Given the description of an element on the screen output the (x, y) to click on. 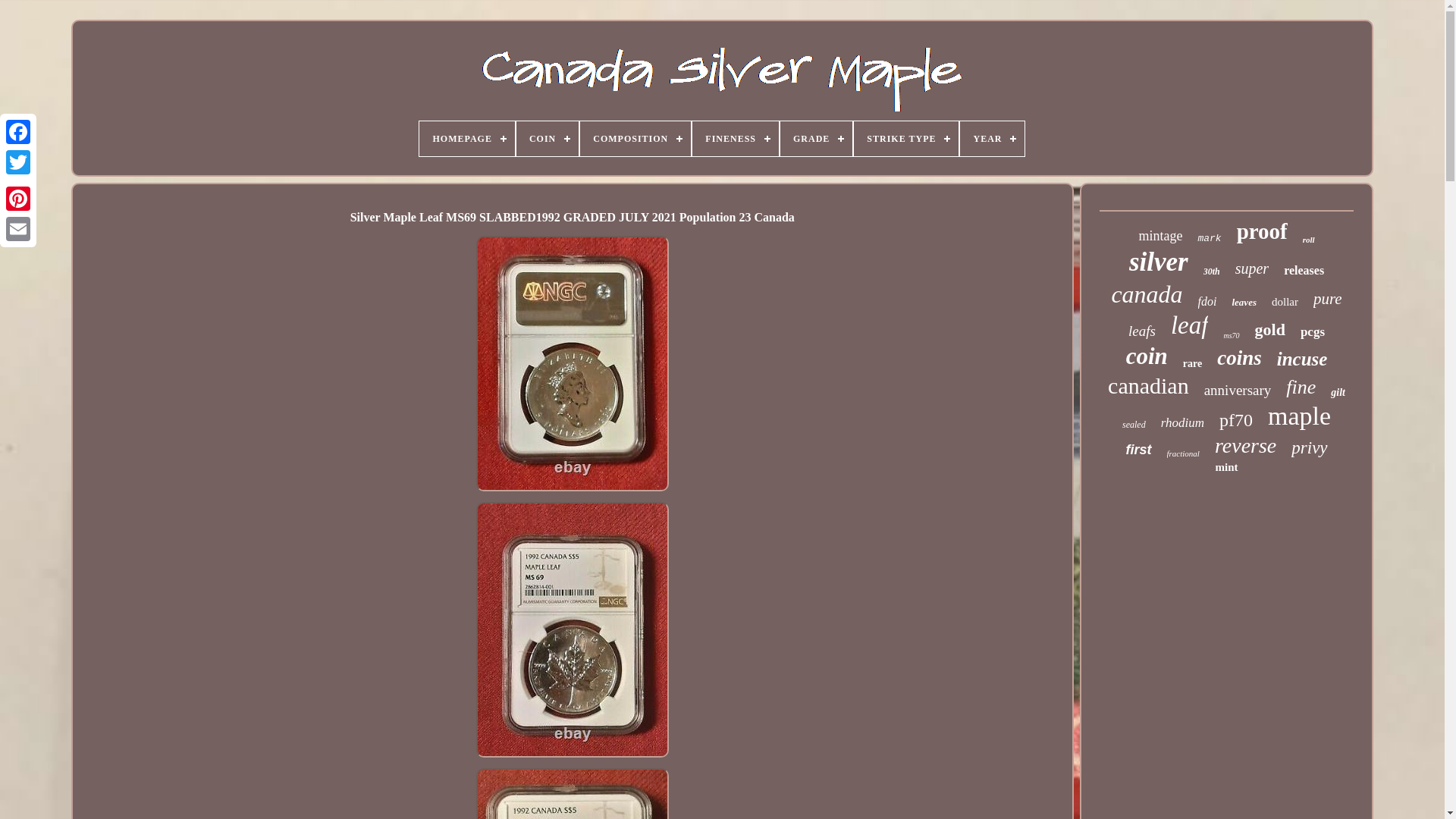
HOMEPAGE (466, 138)
COMPOSITION (634, 138)
FINENESS (735, 138)
COIN (547, 138)
